Given the description of an element on the screen output the (x, y) to click on. 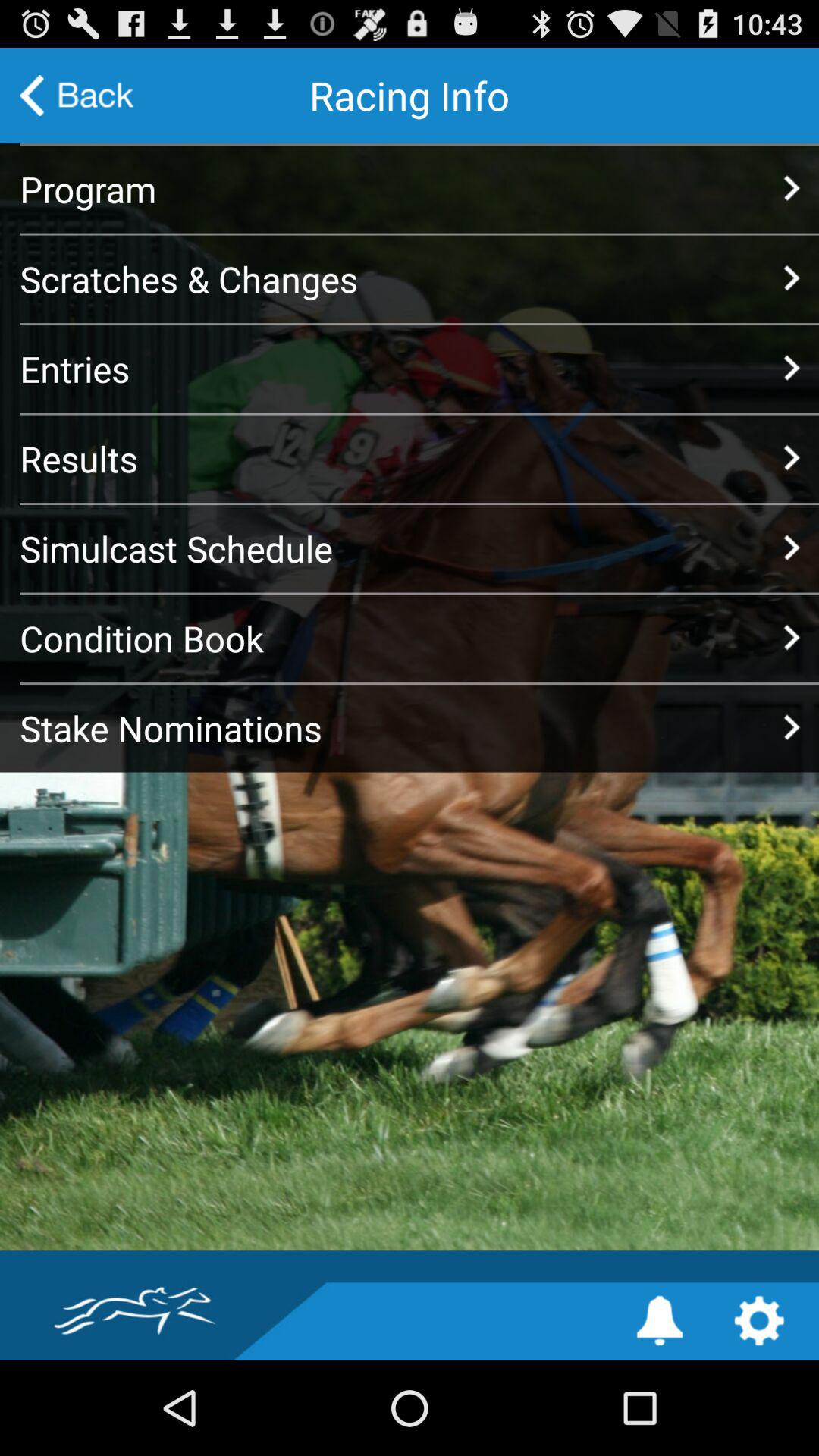
receive notifications (659, 1320)
